Given the description of an element on the screen output the (x, y) to click on. 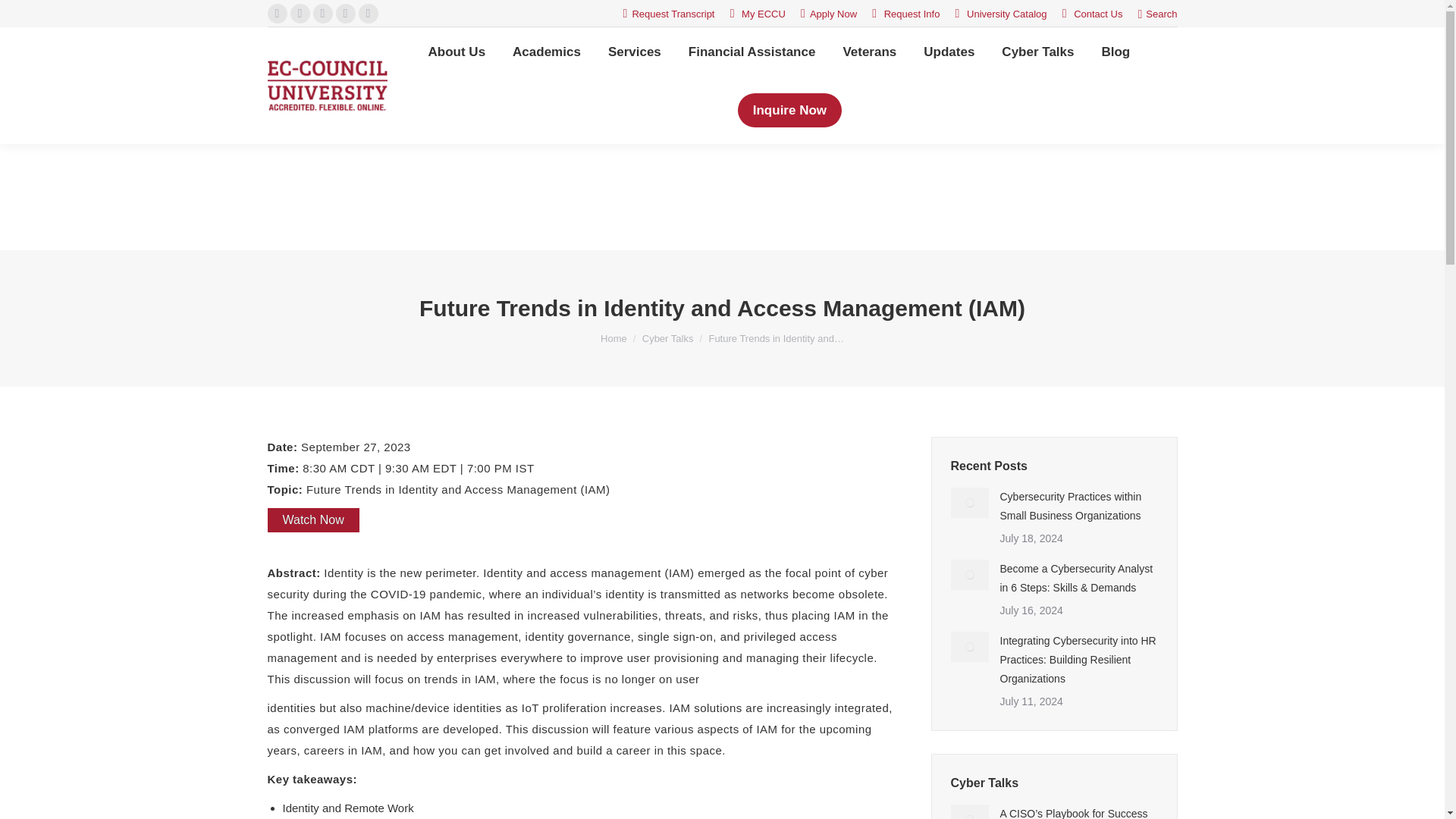
Apply Now (828, 13)
Linkedin page opens in new window (322, 13)
X page opens in new window (298, 13)
Cyber Talks (668, 337)
Home (613, 337)
Instagram page opens in new window (367, 13)
Go! (24, 16)
My ECCU (758, 13)
Instagram page opens in new window (367, 13)
Search (1156, 12)
Academics (546, 51)
Linkedin page opens in new window (322, 13)
Facebook page opens in new window (276, 13)
Facebook page opens in new window (276, 13)
YouTube page opens in new window (344, 13)
